Given the description of an element on the screen output the (x, y) to click on. 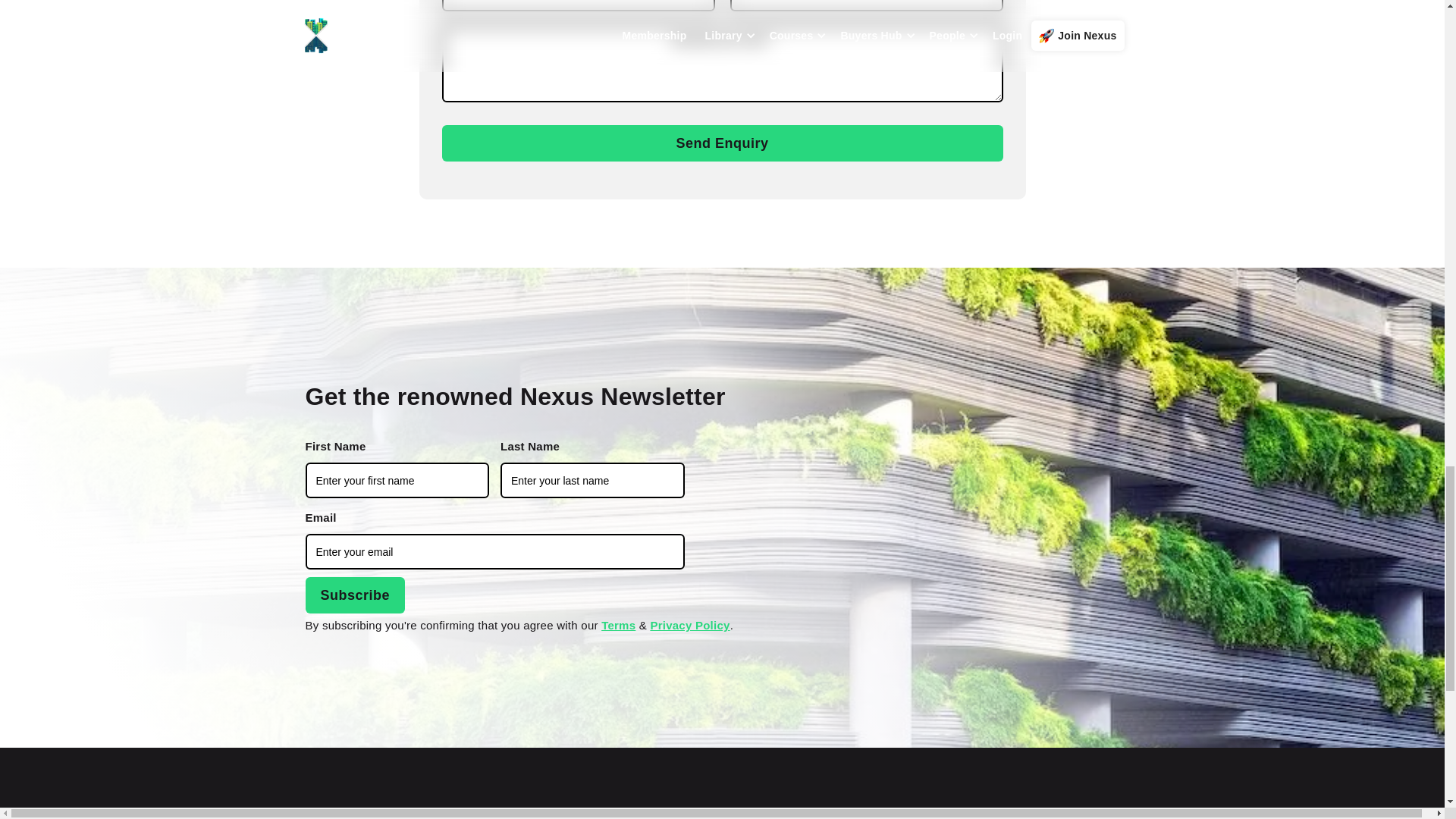
Send Enquiry (722, 143)
Privacy Policy (689, 625)
Send Enquiry (722, 143)
Terms (617, 625)
Subscribe (354, 595)
Subscribe (354, 595)
